Given the description of an element on the screen output the (x, y) to click on. 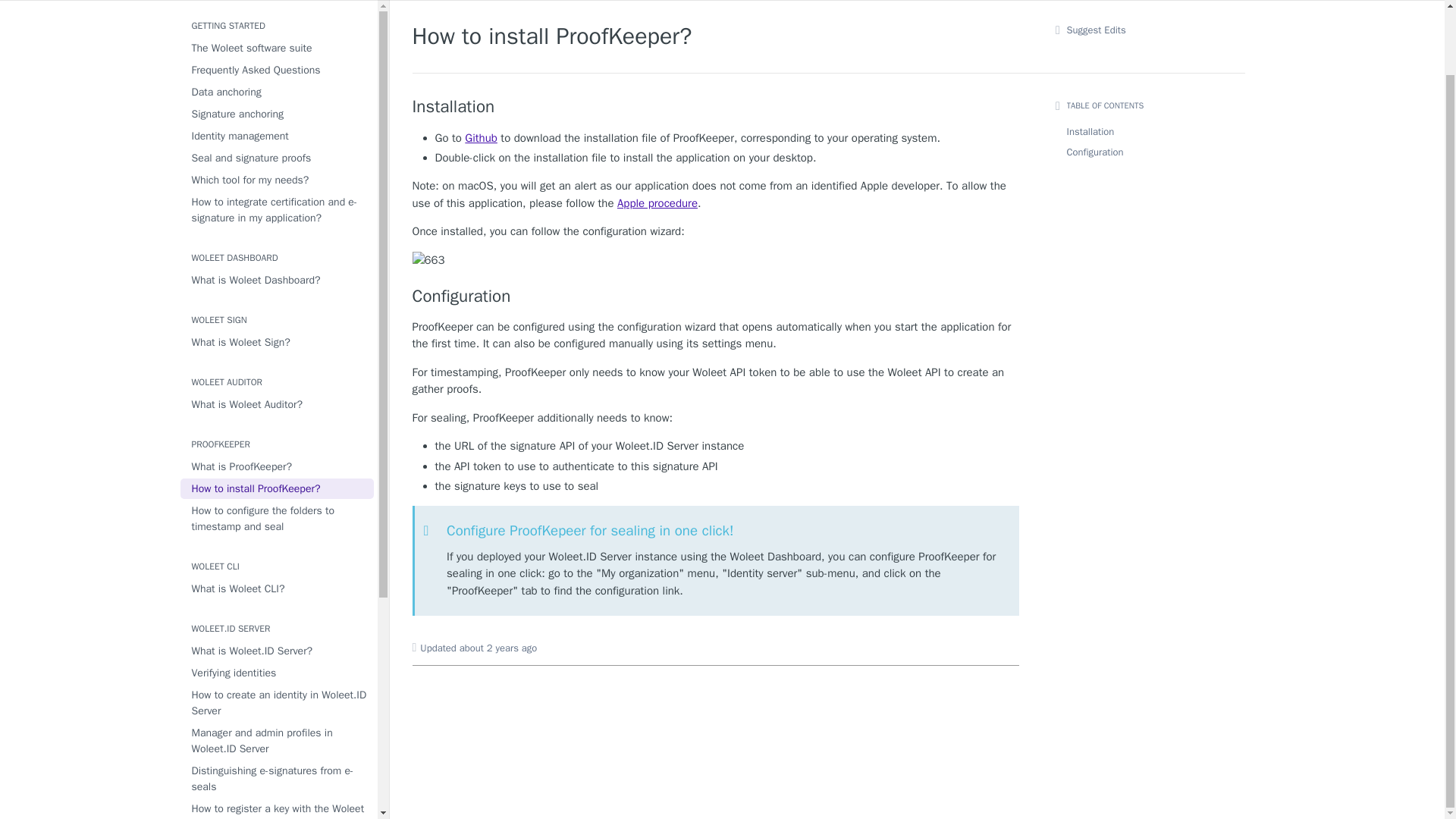
Data anchoring (277, 91)
Identity management (277, 136)
Frequently Asked Questions (277, 69)
What is ProofKeeper? (277, 466)
Seal and signature proofs (277, 158)
What is Woleet CLI? (277, 588)
Signature anchoring (277, 114)
What is Woleet Auditor? (277, 403)
How to configure the folders to timestamp and seal (277, 518)
Installation (715, 106)
The Woleet software suite (277, 47)
How to install ProofKeeper? (277, 488)
What is Woleet Dashboard? (277, 280)
What is Woleet.ID Server? (277, 650)
